Given the description of an element on the screen output the (x, y) to click on. 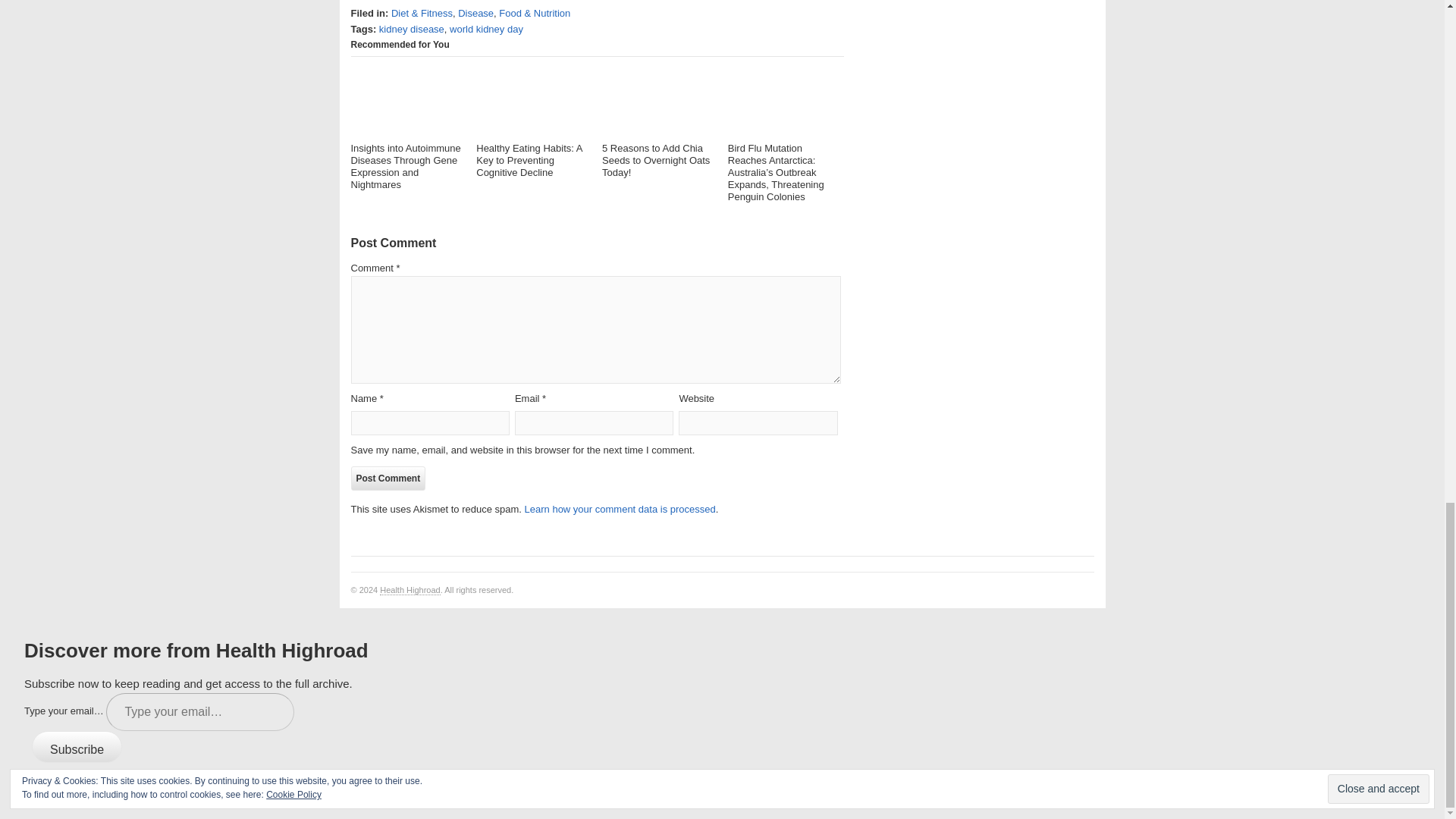
Post Comment (387, 478)
Your Highroad to Health (410, 590)
Please fill in this field. (200, 711)
